Given the description of an element on the screen output the (x, y) to click on. 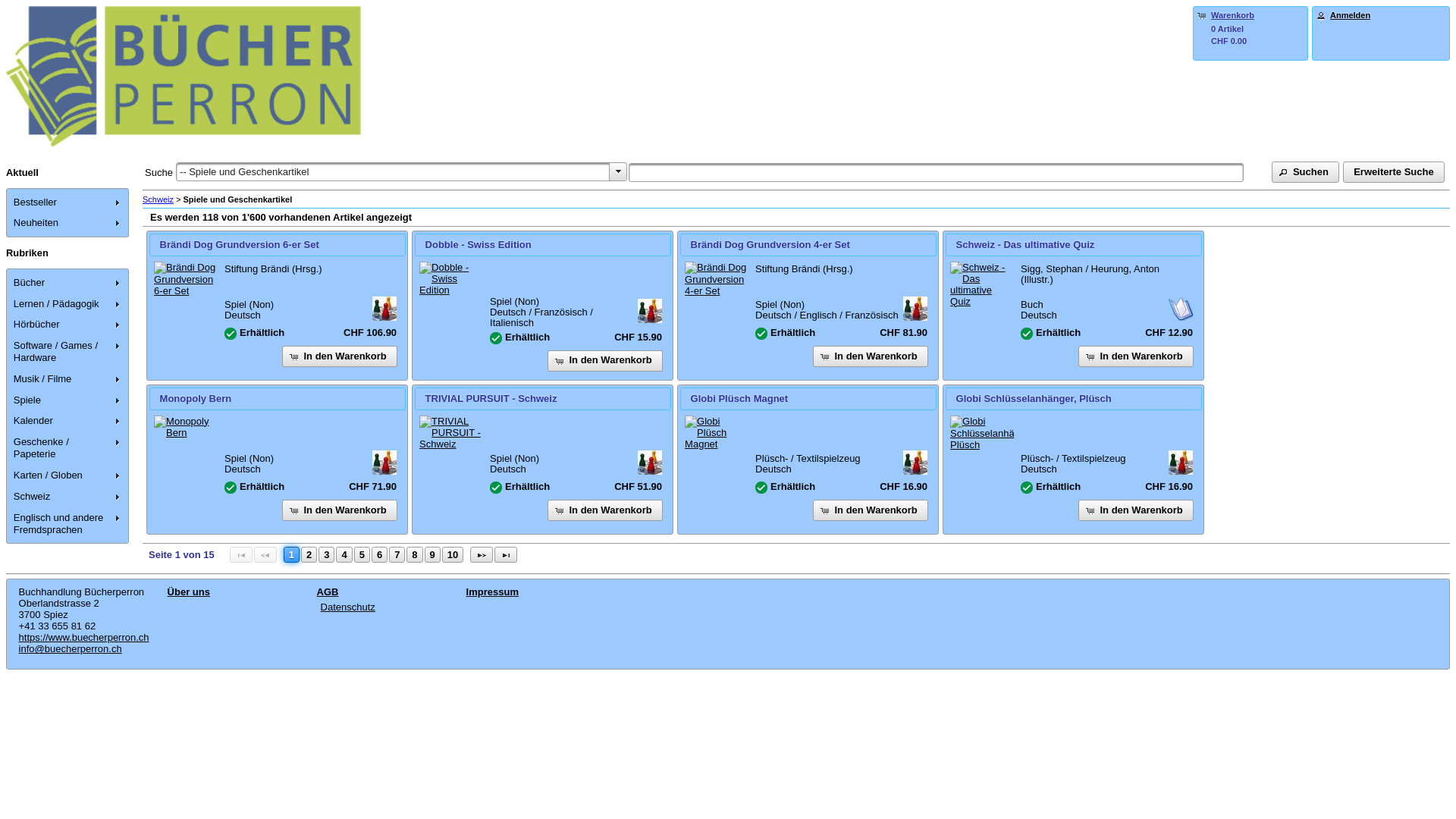
Spiele Element type: text (67, 400)
AGB Element type: text (327, 591)
Spiel Element type: hover (384, 462)
In den Warenkorb Element type: text (870, 356)
Artikel anzeigen Element type: hover (451, 432)
Spiel Element type: hover (384, 308)
Bestseller Element type: text (67, 202)
Der Artikel ist lieferbar. Element type: hover (1026, 487)
Der Artikel ist lieferbar. Element type: hover (230, 333)
Musik / Filme Element type: text (67, 379)
info@buecherperron.ch Element type: text (70, 648)
Schweiz Element type: text (67, 496)
Artikel anzeigen Element type: hover (981, 284)
Warenkorb
0 Artikel
CHF 0.00 Element type: text (1250, 26)
Erweiterte Suche Element type: text (1393, 171)
Artikel anzeigen Element type: hover (185, 278)
Der Artikel ist lieferbar. Element type: hover (495, 487)
Kalender Element type: text (67, 421)
Spiel Element type: hover (649, 310)
Artikel anzeigen Element type: hover (981, 432)
In den Warenkorb Element type: text (339, 356)
In den Warenkorb Element type: text (339, 509)
Der Artikel ist lieferbar. Element type: hover (230, 487)
Impressum Element type: text (492, 591)
Anmelden Element type: text (1350, 14)
Spiel Element type: hover (649, 462)
Suchen Element type: text (1305, 171)
https://www.buecherperron.ch Element type: text (83, 637)
In den Warenkorb Element type: text (604, 509)
Neuheiten Element type: text (67, 223)
Spiel Element type: hover (915, 462)
Der Artikel ist lieferbar. Element type: hover (761, 487)
Artikel anzeigen Element type: hover (716, 278)
Der Artikel ist lieferbar. Element type: hover (495, 338)
Artikel anzeigen Element type: hover (716, 432)
Schweiz Element type: text (157, 198)
In den Warenkorb Element type: text (604, 360)
Buch Element type: hover (1180, 308)
Geschenke / Papeterie Element type: text (67, 448)
Artikel anzeigen Element type: hover (185, 426)
Karten / Globen Element type: text (67, 475)
Spiel Element type: hover (1180, 462)
Software / Games / Hardware Element type: text (67, 351)
In den Warenkorb Element type: text (870, 509)
In den Warenkorb Element type: text (1135, 356)
Artikel anzeigen Element type: hover (451, 278)
Spiel Element type: hover (915, 308)
Datenschutz Element type: text (347, 606)
Englisch und andere Fremdsprachen Element type: text (67, 523)
Der Artikel ist lieferbar. Element type: hover (761, 333)
Der Artikel ist lieferbar. Element type: hover (1026, 333)
In den Warenkorb Element type: text (1135, 509)
